Given the description of an element on the screen output the (x, y) to click on. 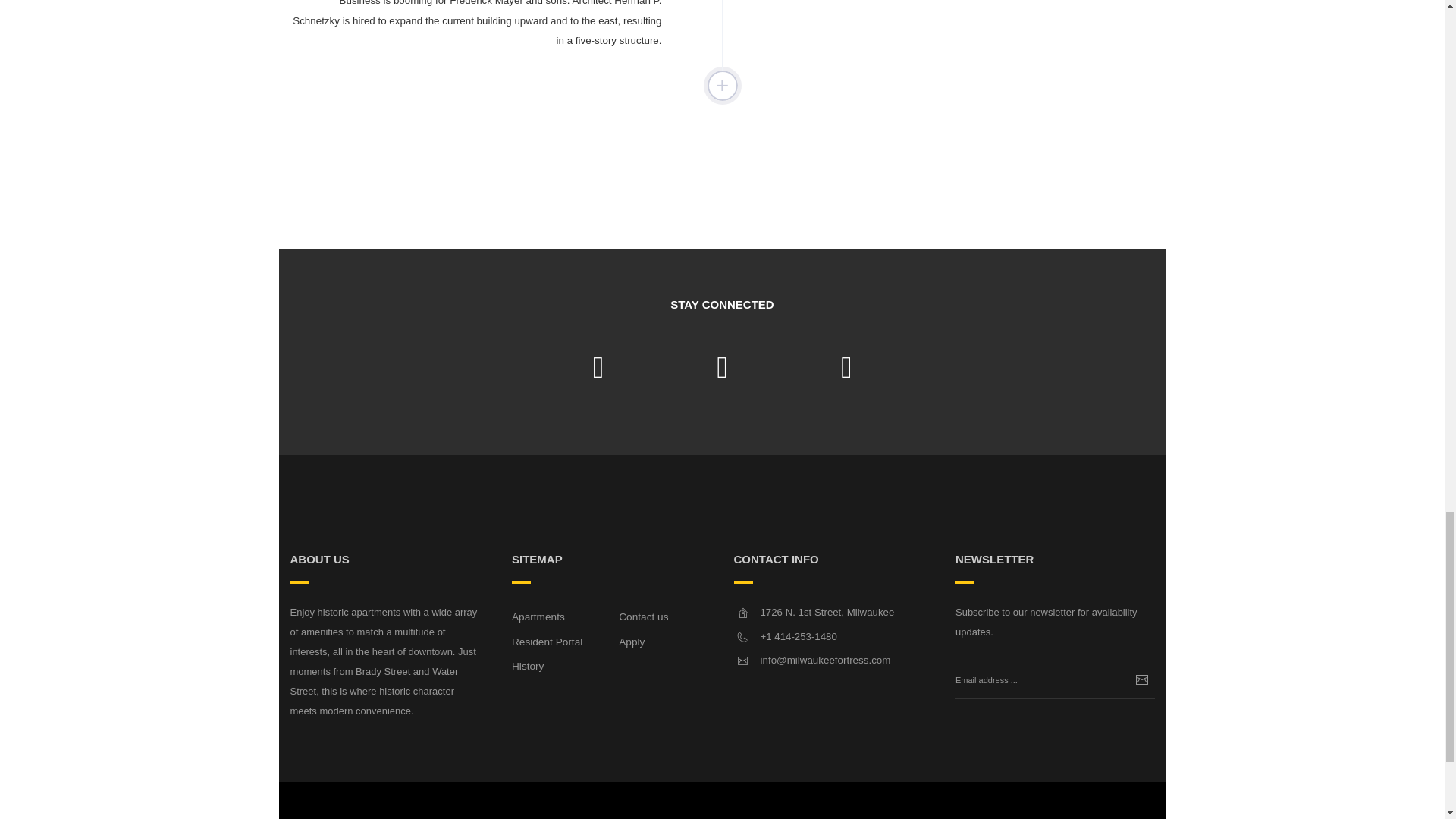
Contact us (643, 616)
Apply (631, 641)
Resident Portal (547, 641)
Apartments (538, 616)
History (527, 665)
